Given the description of an element on the screen output the (x, y) to click on. 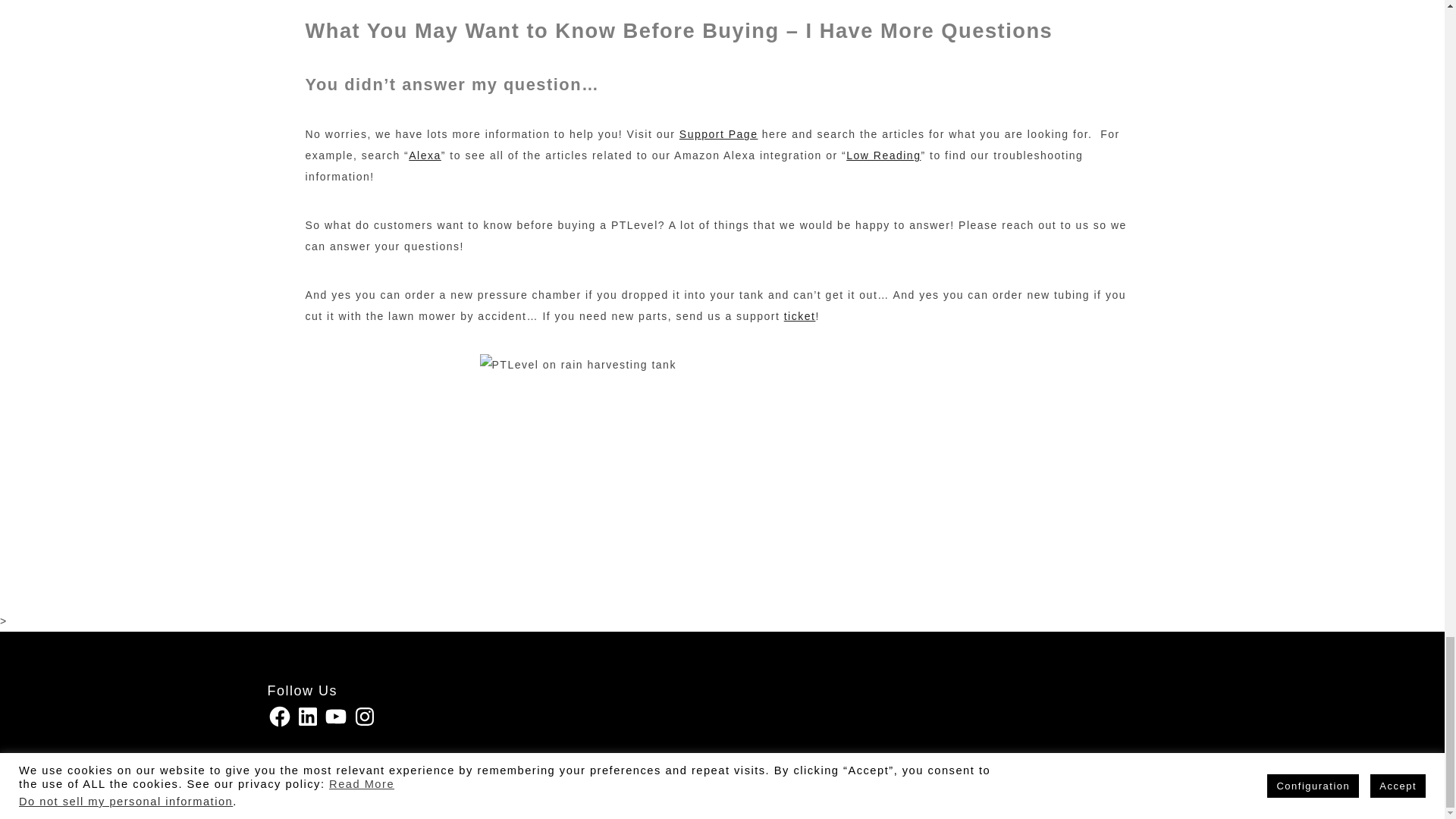
ticket (799, 316)
Support Page (718, 133)
Low Reading (882, 155)
Alexa (425, 155)
Facebook (278, 716)
